Given the description of an element on the screen output the (x, y) to click on. 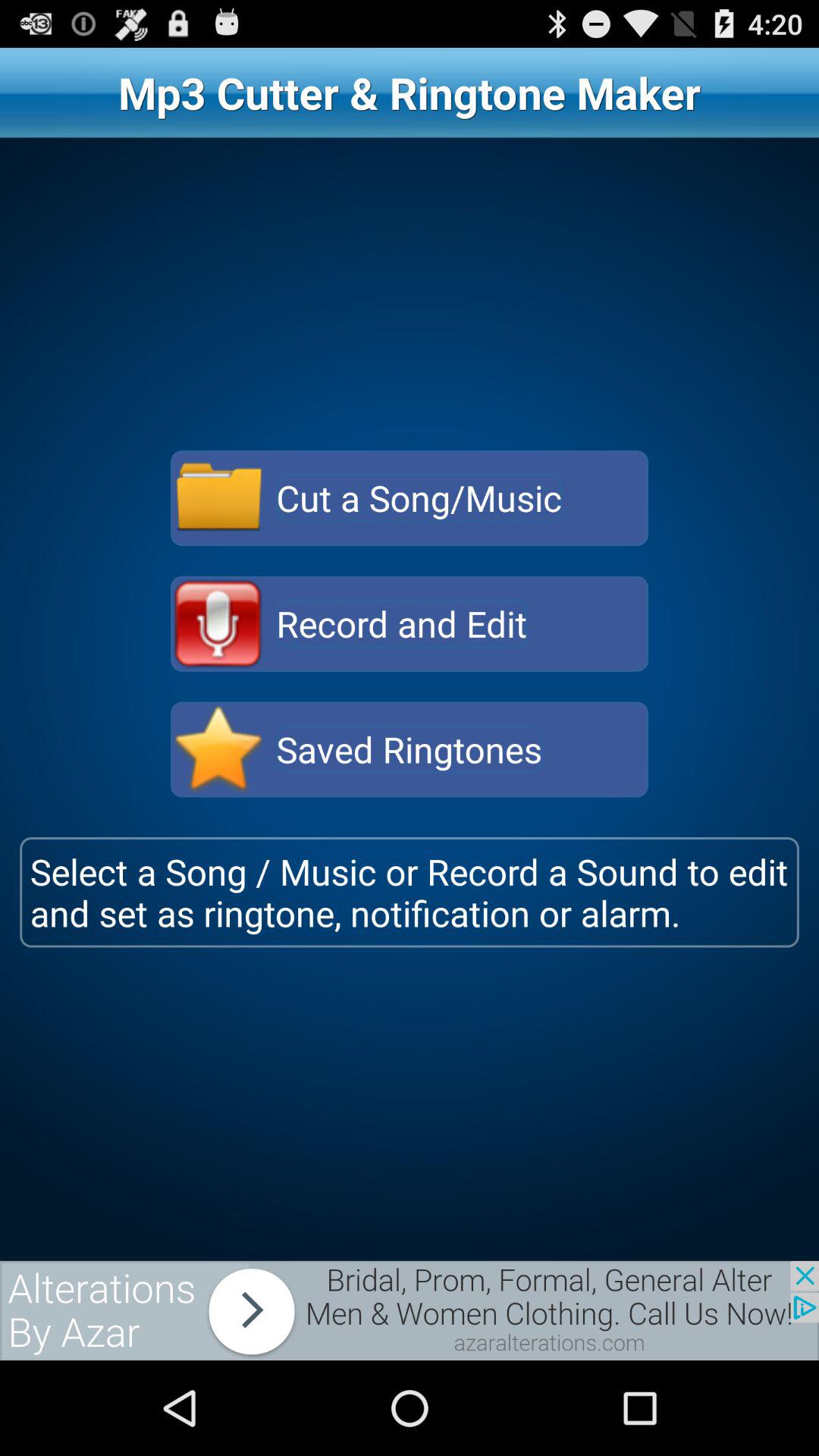
click on add (409, 1310)
